Given the description of an element on the screen output the (x, y) to click on. 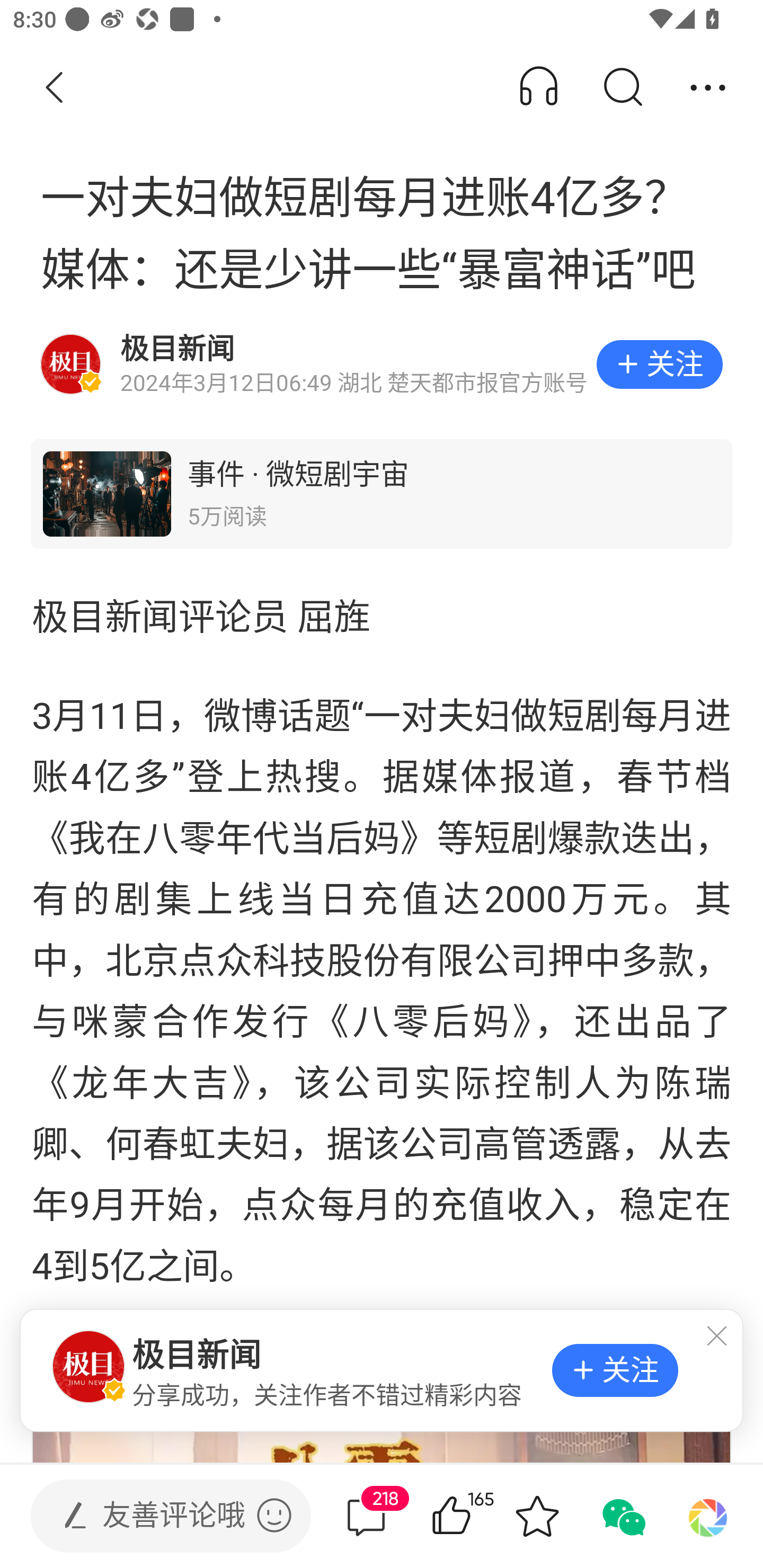
搜索  (622, 87)
分享  (707, 87)
 返回 (54, 87)
极目新闻 2024年3月12日06:49 湖北 楚天都市报官方账号  关注 (381, 364)
 关注 (659, 364)
事件 ·  微短剧宇宙 5万阅读 (381, 493)
 (722, 1336)
 关注 (615, 1370)
发表评论  友善评论哦 发表评论  (155, 1516)
218评论  218 评论 (365, 1516)
165赞 (476, 1516)
收藏  (536, 1516)
分享到微信  (622, 1516)
分享到朋友圈 (707, 1516)
 (274, 1515)
